Given the description of an element on the screen output the (x, y) to click on. 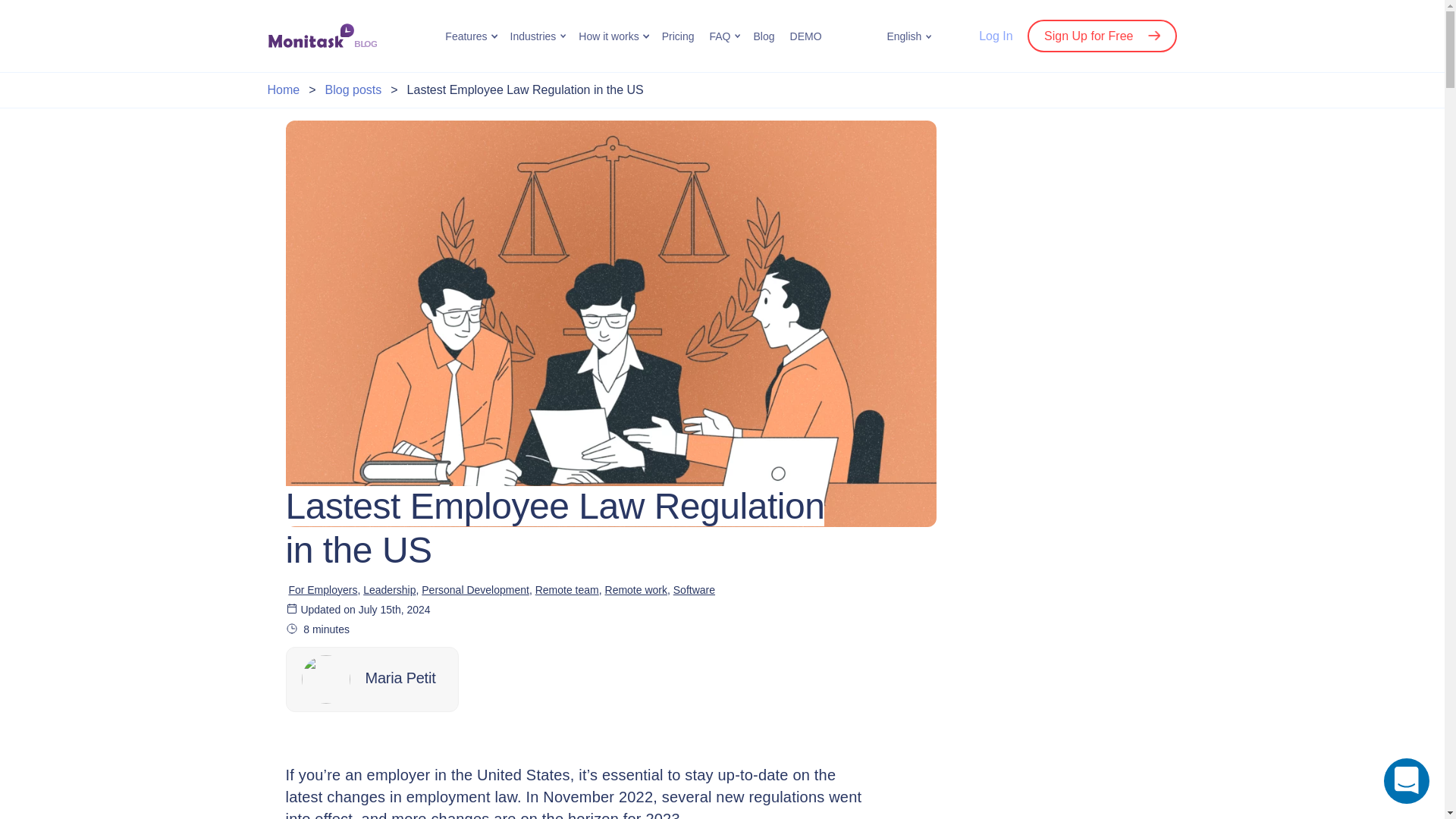
Messenger (421, 737)
Facebook (330, 737)
WhatsApp (390, 737)
DEMO (806, 36)
Blog (763, 36)
LinkedIn (360, 737)
FAQ (719, 36)
Log In (994, 35)
Industries (533, 36)
Twitter (300, 737)
